Given the description of an element on the screen output the (x, y) to click on. 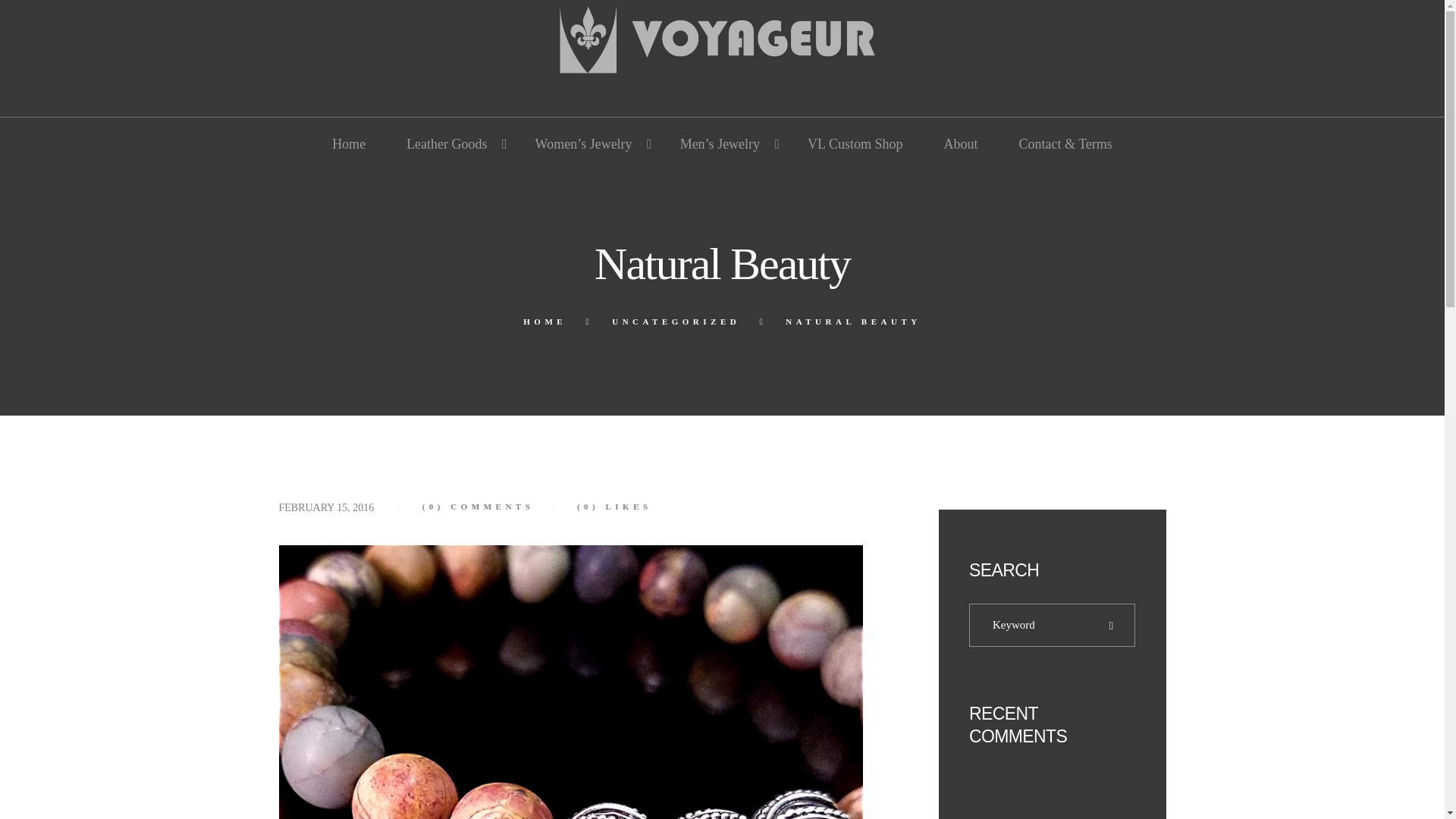
About (960, 144)
VL Custom Shop (855, 144)
Home (348, 144)
UNCATEGORIZED (675, 321)
Search for: (1051, 625)
Leather Goods (449, 144)
Comments - 0 (478, 506)
HOME (544, 321)
Like (596, 506)
